Given the description of an element on the screen output the (x, y) to click on. 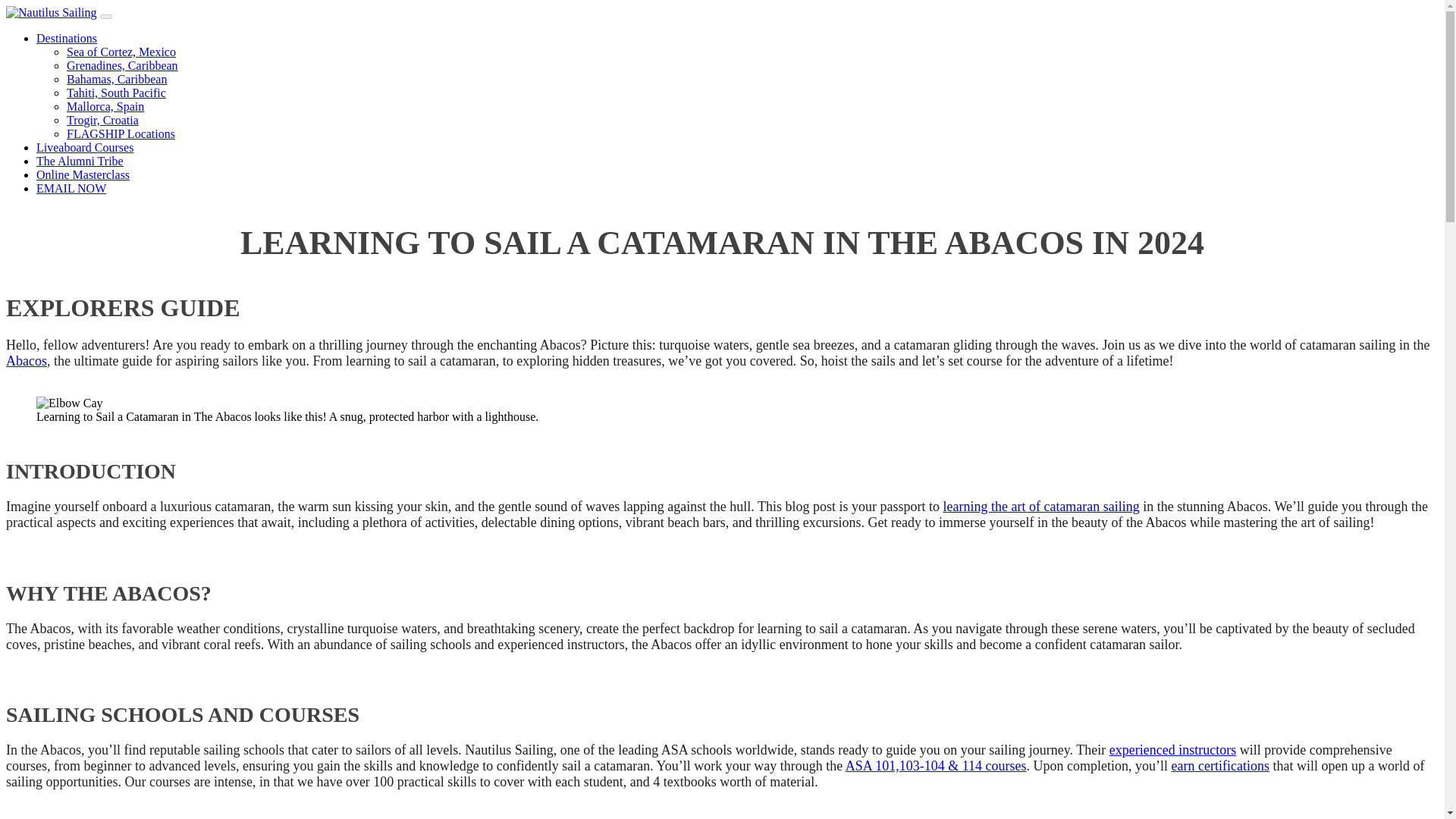
Bahamas, Caribbean (116, 78)
Sea of Cortez, Mexico (121, 51)
Beautiful Elbow Cay (69, 403)
learning the art of catamar (1014, 506)
The Alumni Tribe (79, 160)
earn certifications (1220, 765)
an sailing (1113, 506)
Tahiti, South Pacific (115, 92)
Online Masterclass (82, 174)
experienced instructors (1172, 749)
Liveaboard Courses (84, 146)
Destinations (66, 38)
FLAGSHIP Locations (120, 133)
Mallorca, Spain (105, 106)
Trogir, Croatia (102, 119)
